Given the description of an element on the screen output the (x, y) to click on. 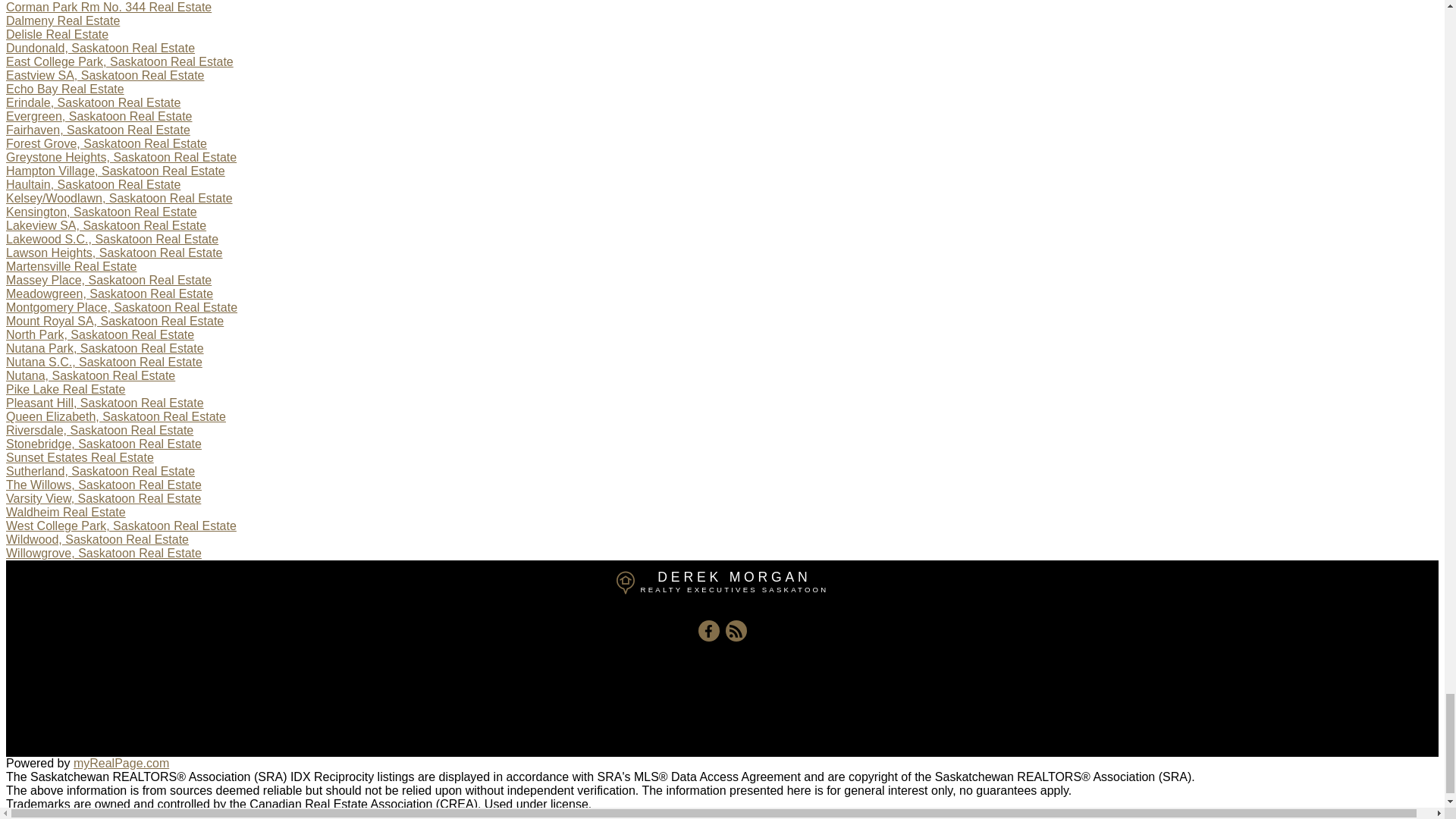
Facebook (708, 630)
Blog (735, 630)
